Given the description of an element on the screen output the (x, y) to click on. 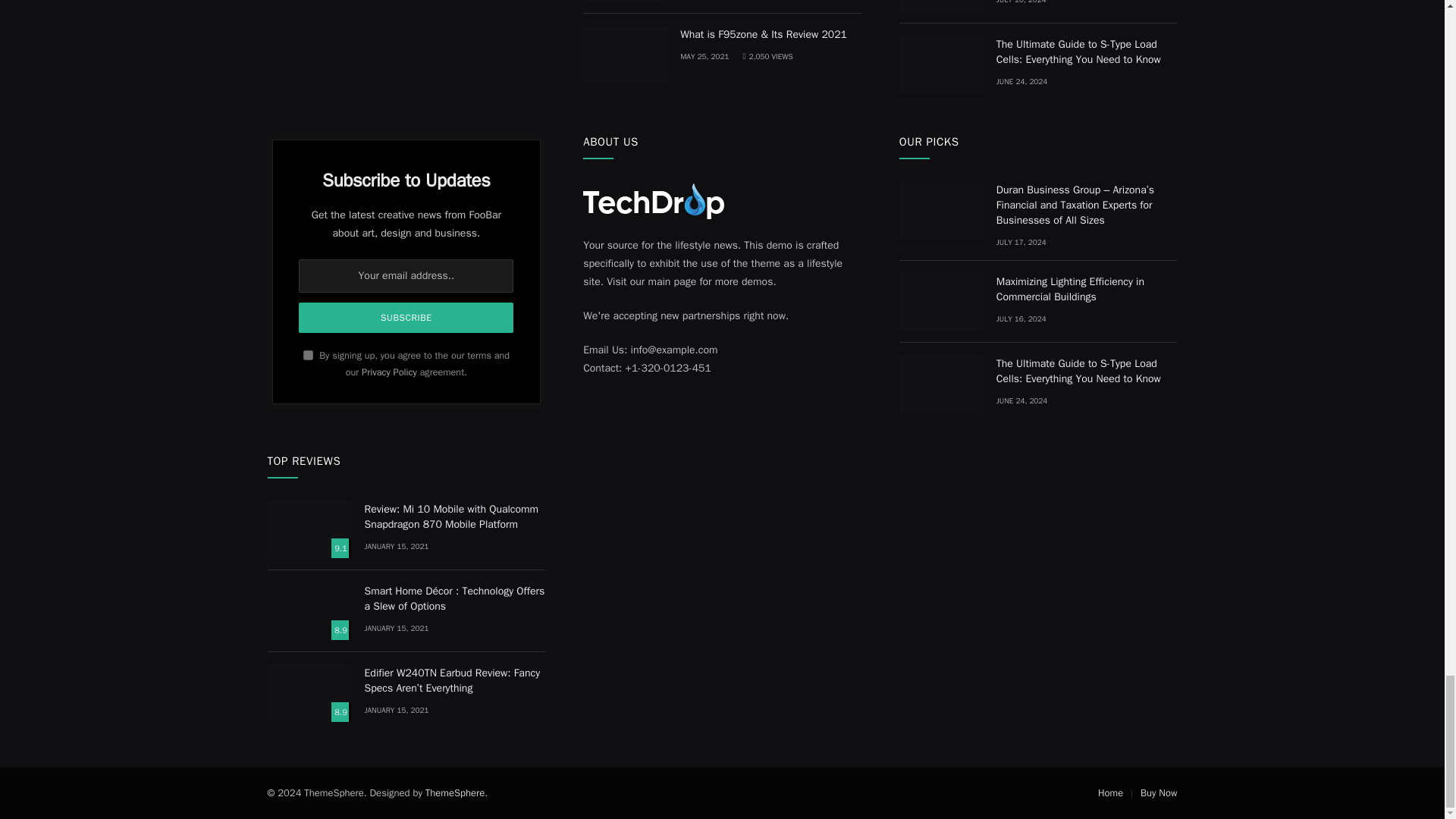
on (307, 355)
Subscribe (405, 317)
